Given the description of an element on the screen output the (x, y) to click on. 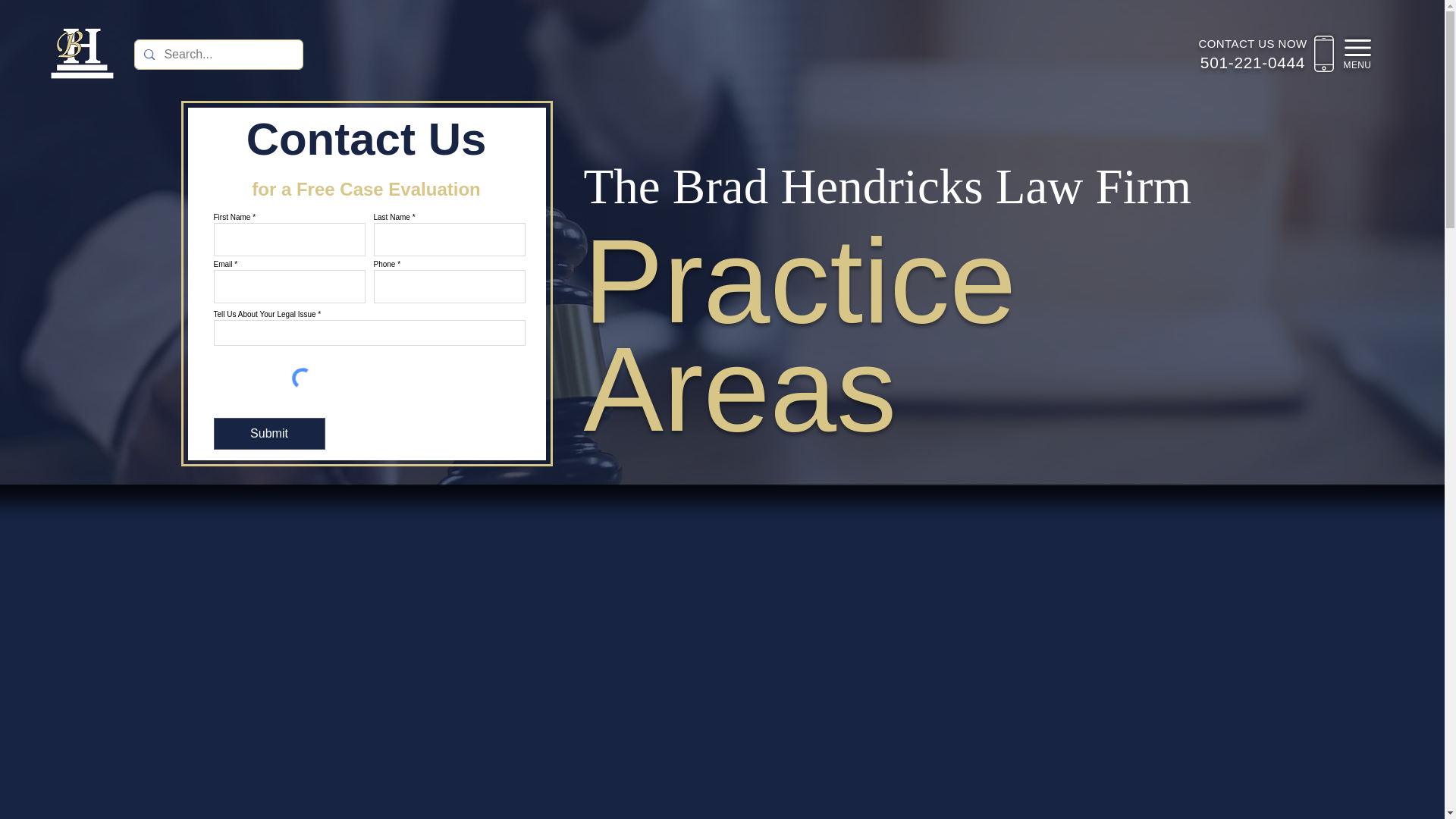
CONTACT US NOW (1252, 42)
501-221-0444 (1251, 62)
Submit (269, 433)
